Given the description of an element on the screen output the (x, y) to click on. 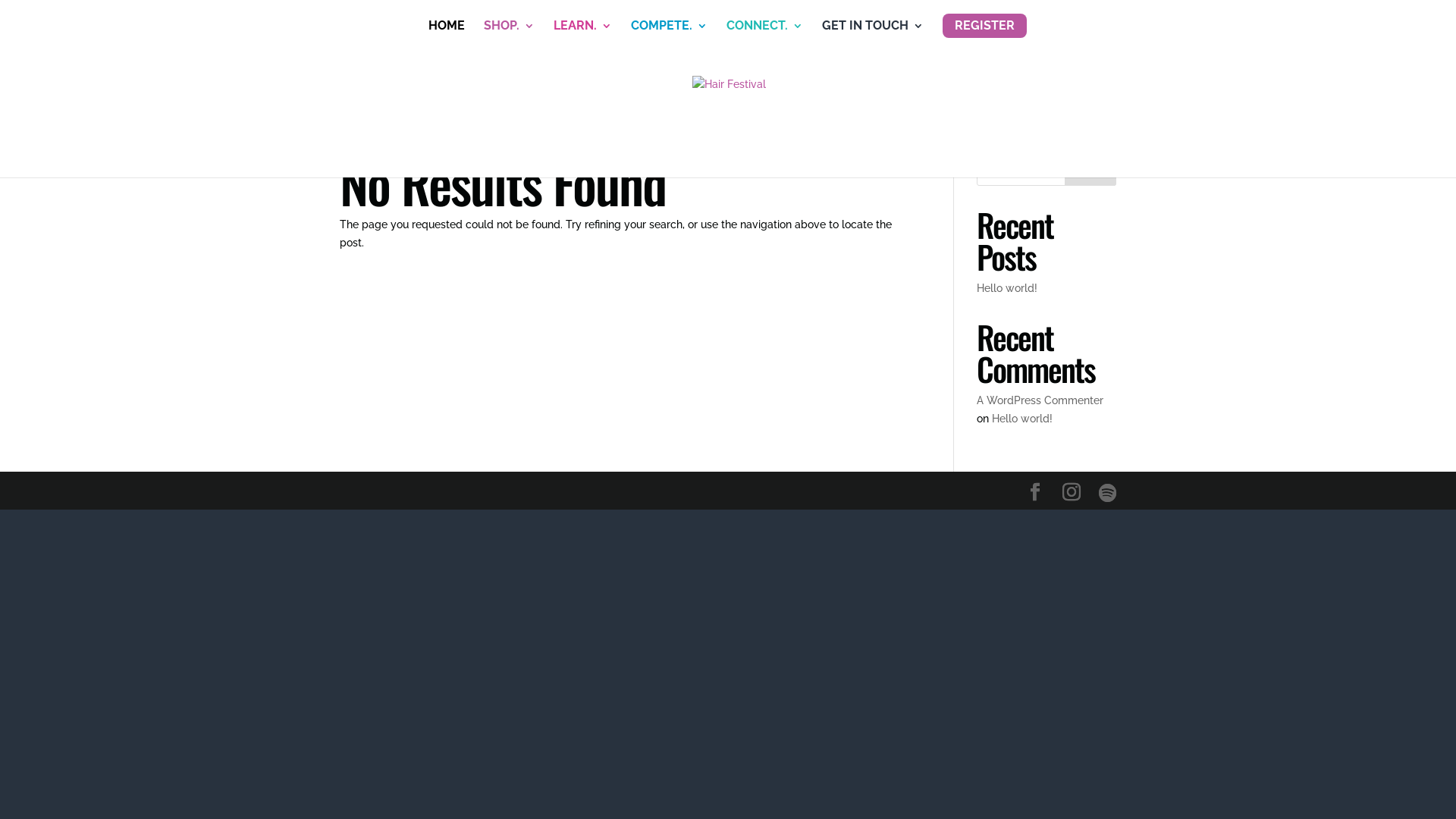
GET IN TOUCH Element type: text (872, 19)
CONNECT. Element type: text (764, 19)
Search Element type: text (1090, 170)
A WordPress Commenter Element type: text (1039, 400)
REGISTER Element type: text (983, 25)
HOME Element type: text (445, 19)
LEARN. Element type: text (582, 19)
Hello world! Element type: text (1006, 288)
Hello world! Element type: text (1021, 418)
COMPETE. Element type: text (668, 19)
SHOP. Element type: text (508, 19)
